Given the description of an element on the screen output the (x, y) to click on. 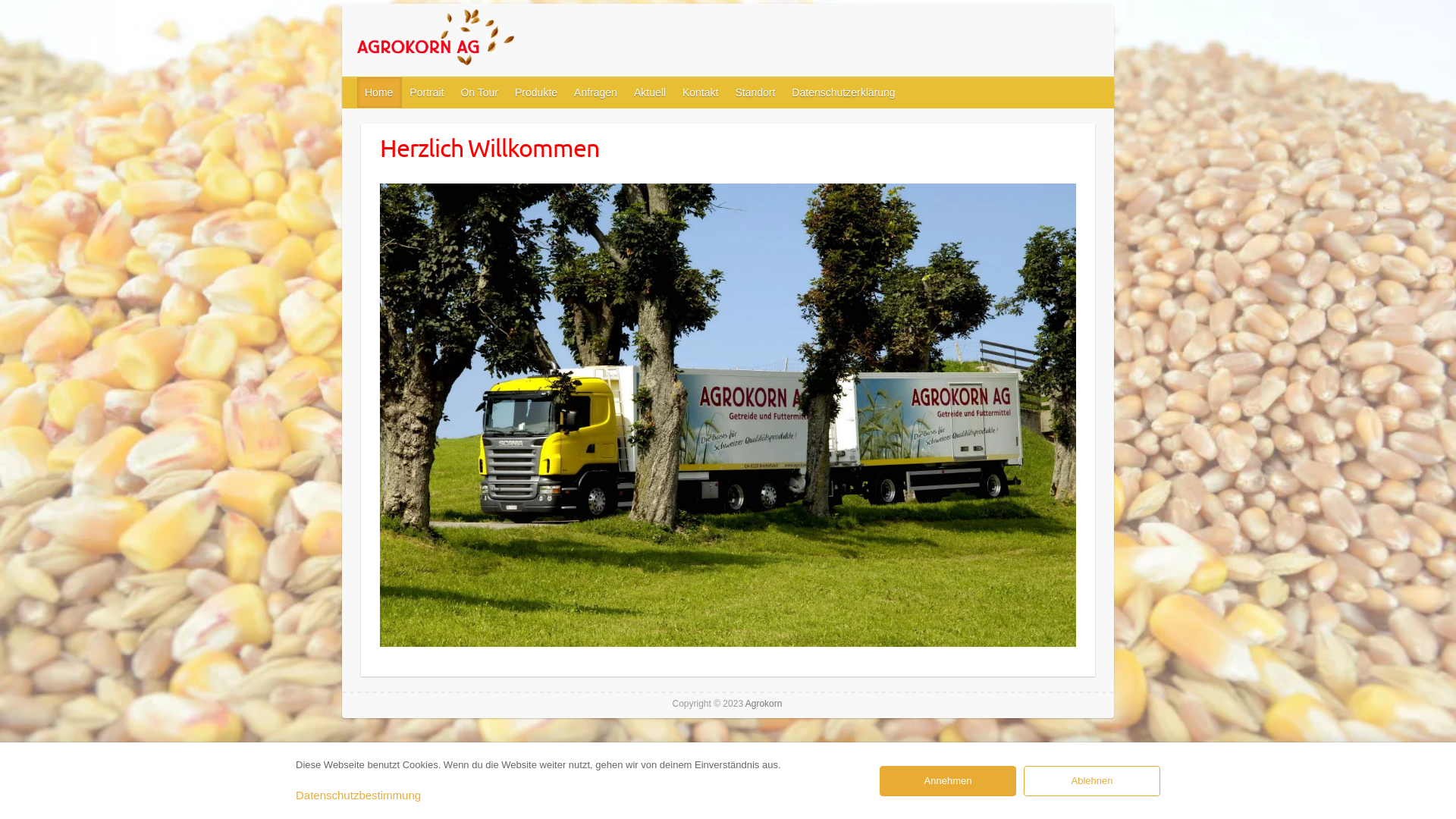
Produkte Element type: text (536, 92)
Datenschutzbestimmung Element type: text (357, 794)
Standort Element type: text (755, 92)
On Tour Element type: text (479, 92)
Agrokorn Element type: text (763, 703)
Kontakt Element type: text (700, 92)
Home Element type: text (379, 92)
Agrokorn Element type: hover (470, 39)
Portrait Element type: text (426, 92)
Aktuell Element type: text (650, 92)
Anfragen Element type: text (596, 92)
